Given the description of an element on the screen output the (x, y) to click on. 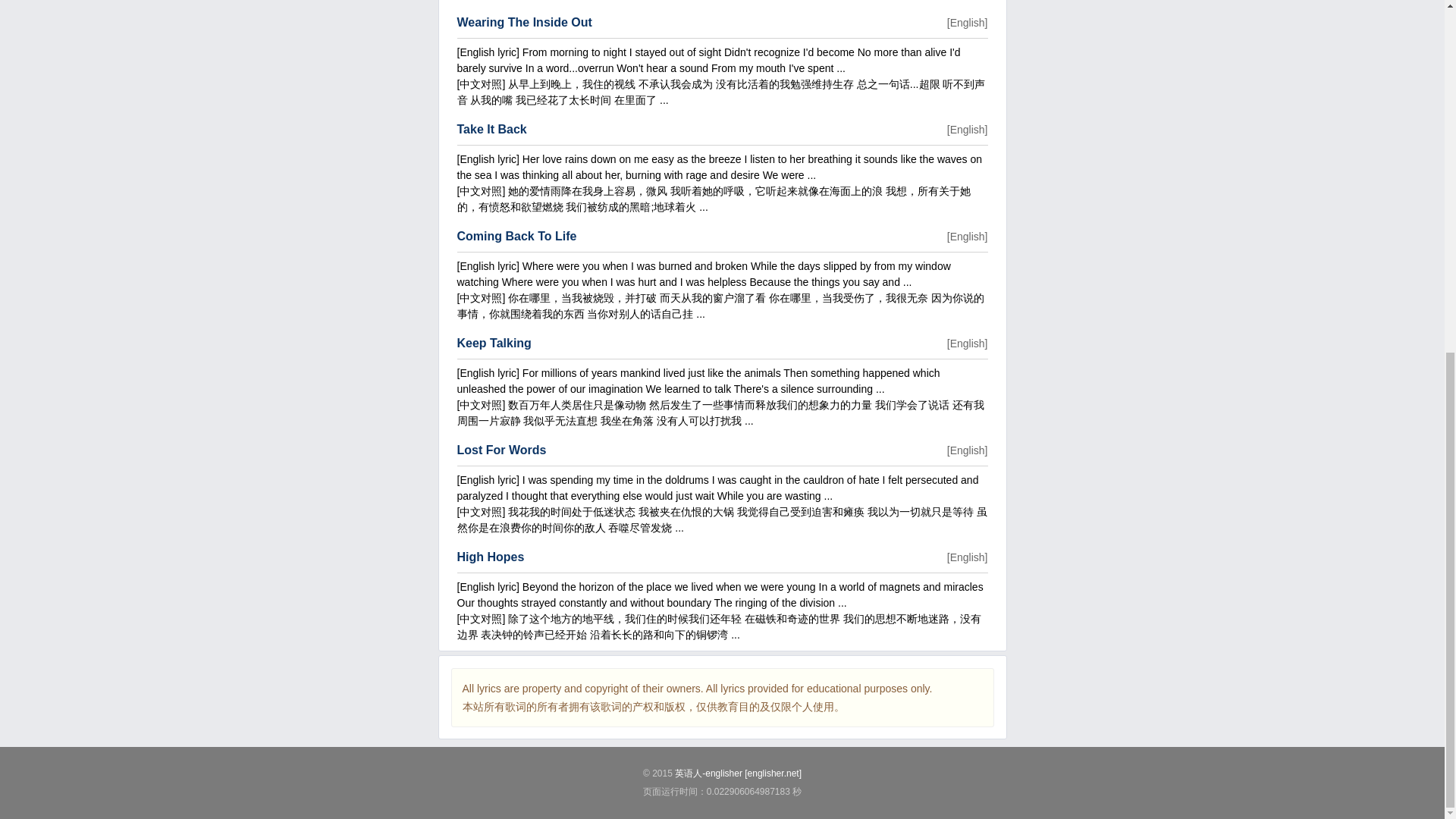
Take It Back (491, 128)
Wearing The Inside Out (524, 21)
High Hopes (490, 556)
Coming Back To Life (516, 236)
Keep Talking (494, 342)
Lost For Words (501, 449)
